Given the description of an element on the screen output the (x, y) to click on. 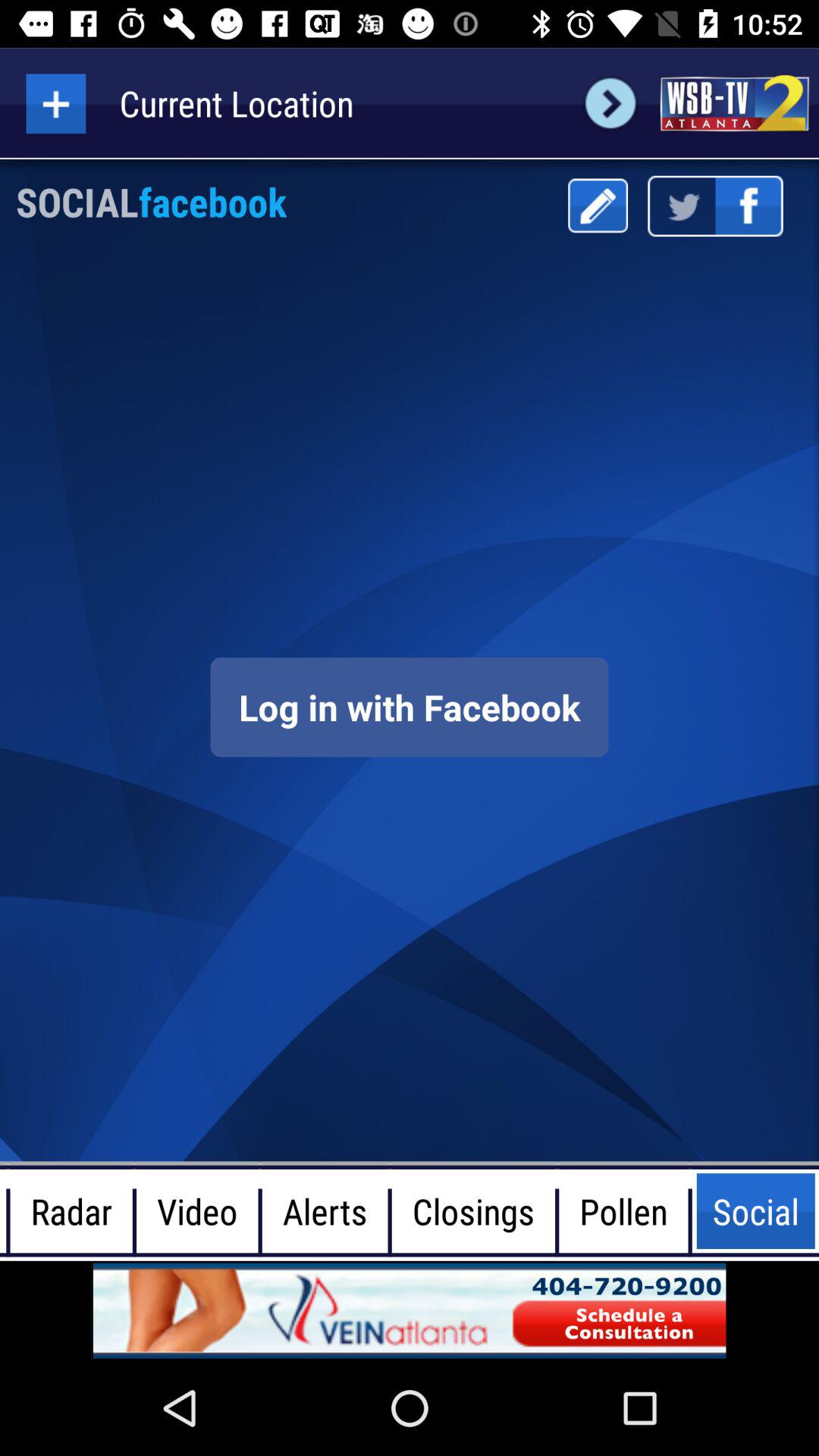
write (597, 206)
